Given the description of an element on the screen output the (x, y) to click on. 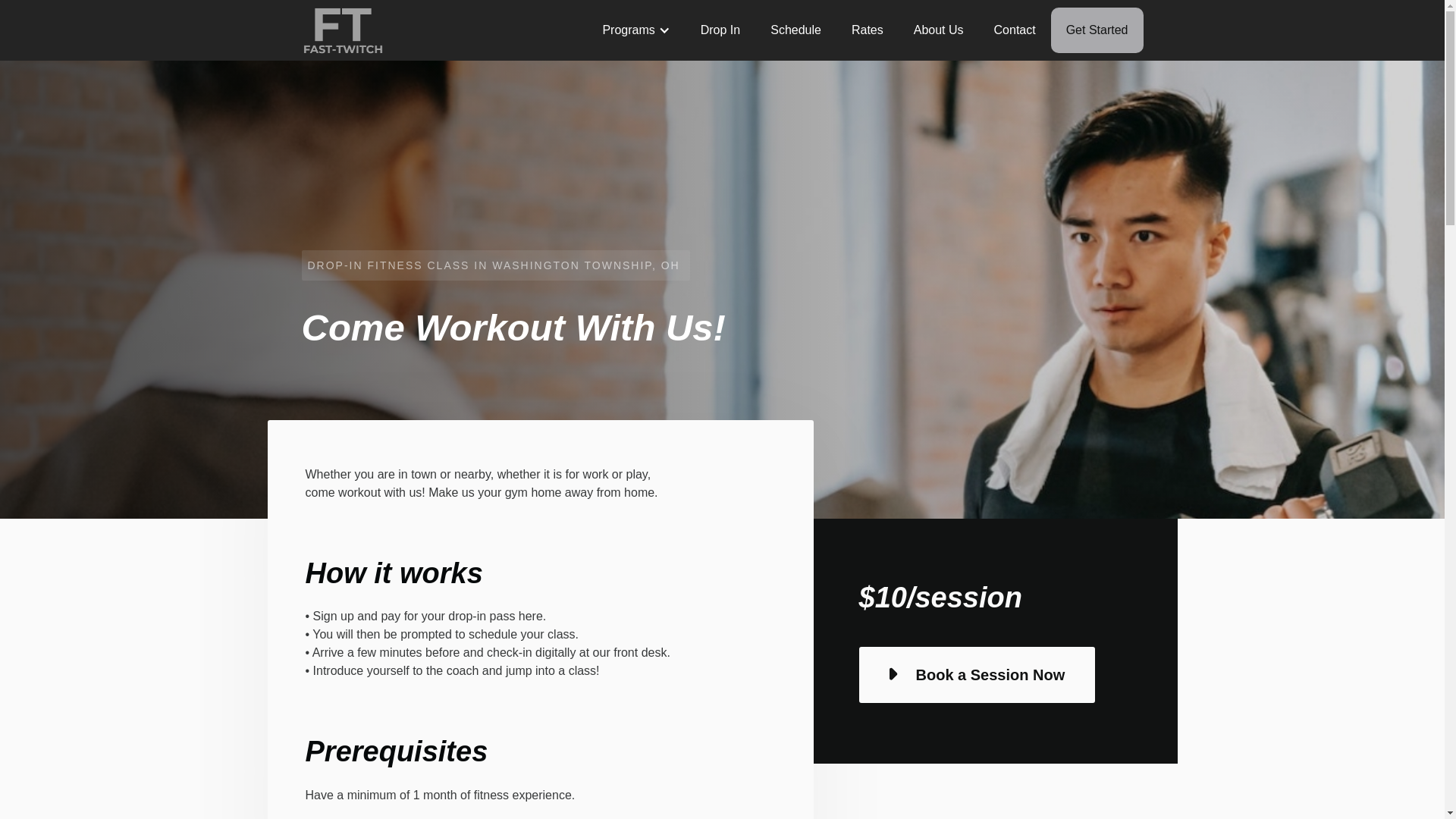
Contact (1014, 30)
Rates (866, 30)
Get Started (1096, 30)
Drop In (720, 30)
Schedule (795, 30)
About Us (938, 30)
Book a Session Now (976, 674)
